Given the description of an element on the screen output the (x, y) to click on. 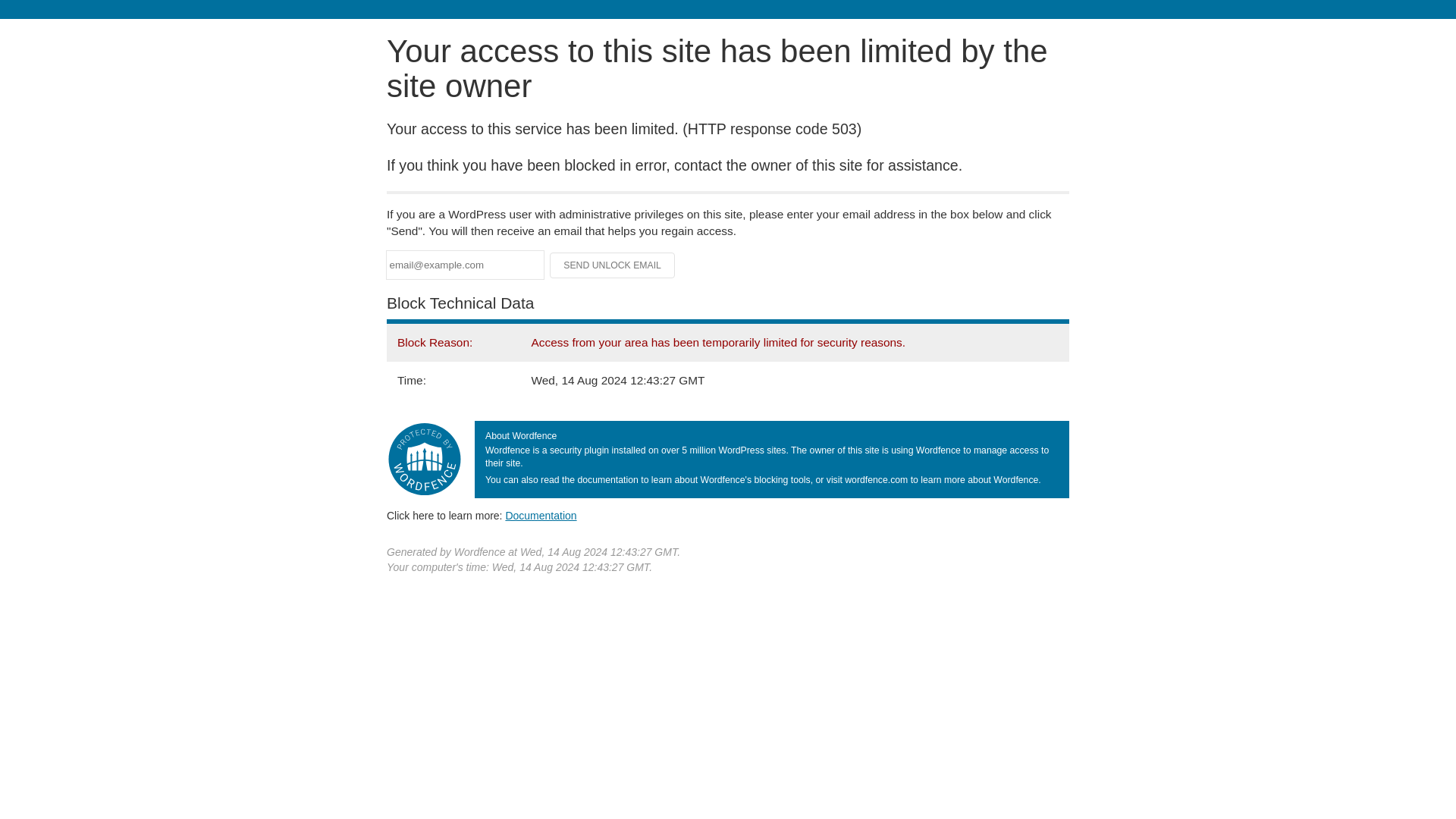
Documentation (540, 515)
Send Unlock Email (612, 265)
Send Unlock Email (612, 265)
